Given the description of an element on the screen output the (x, y) to click on. 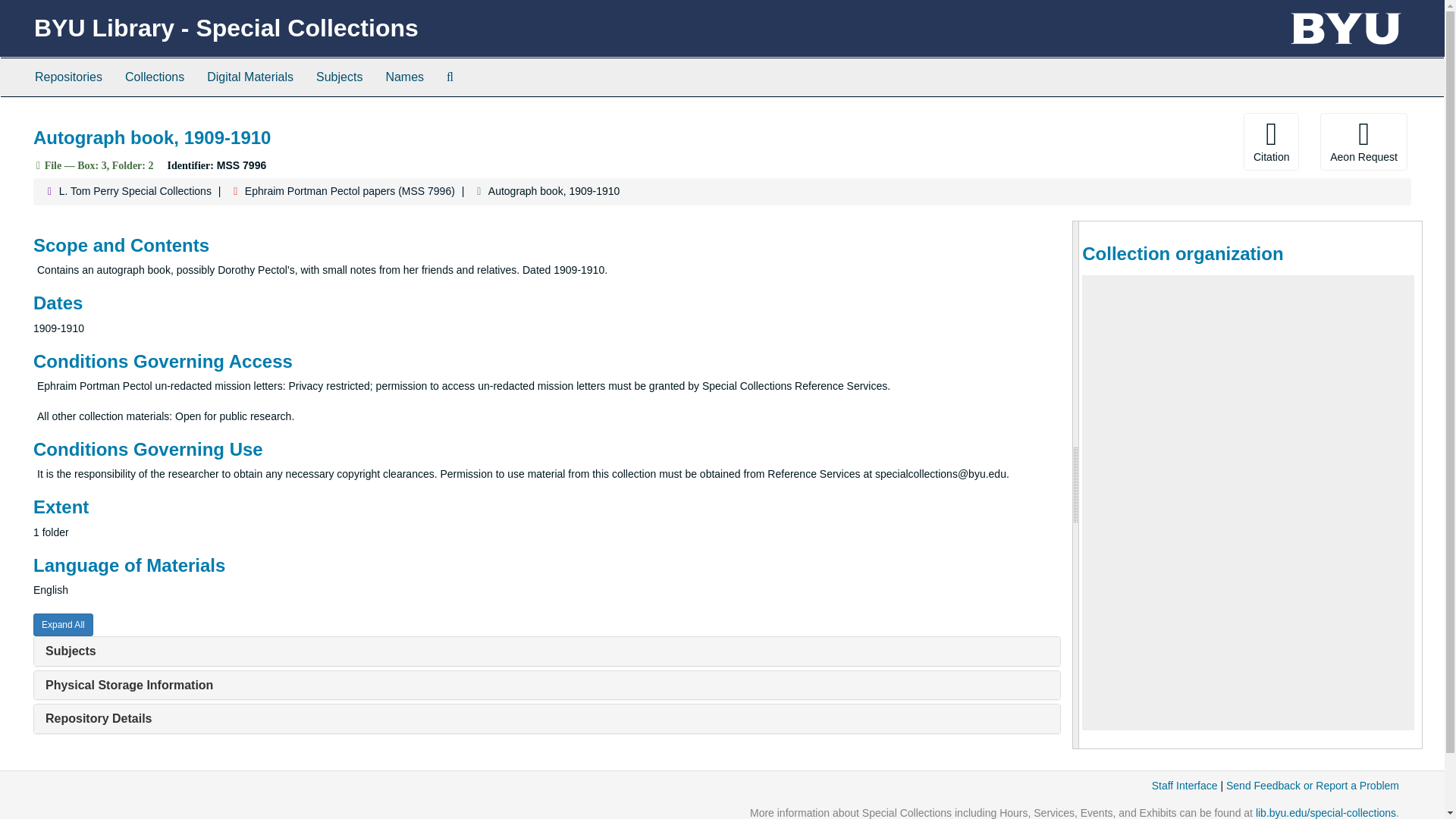
Physical Storage Information (128, 684)
Digital Materials (249, 77)
Repositories (68, 77)
L. Tom Perry Special Collections (135, 191)
Subjects (339, 77)
Return to the homepage (226, 27)
BYU Library - Special Collections (226, 27)
Send Feedback or Report a Problem (1312, 785)
Aeon Request (1363, 141)
Names (404, 77)
